Given the description of an element on the screen output the (x, y) to click on. 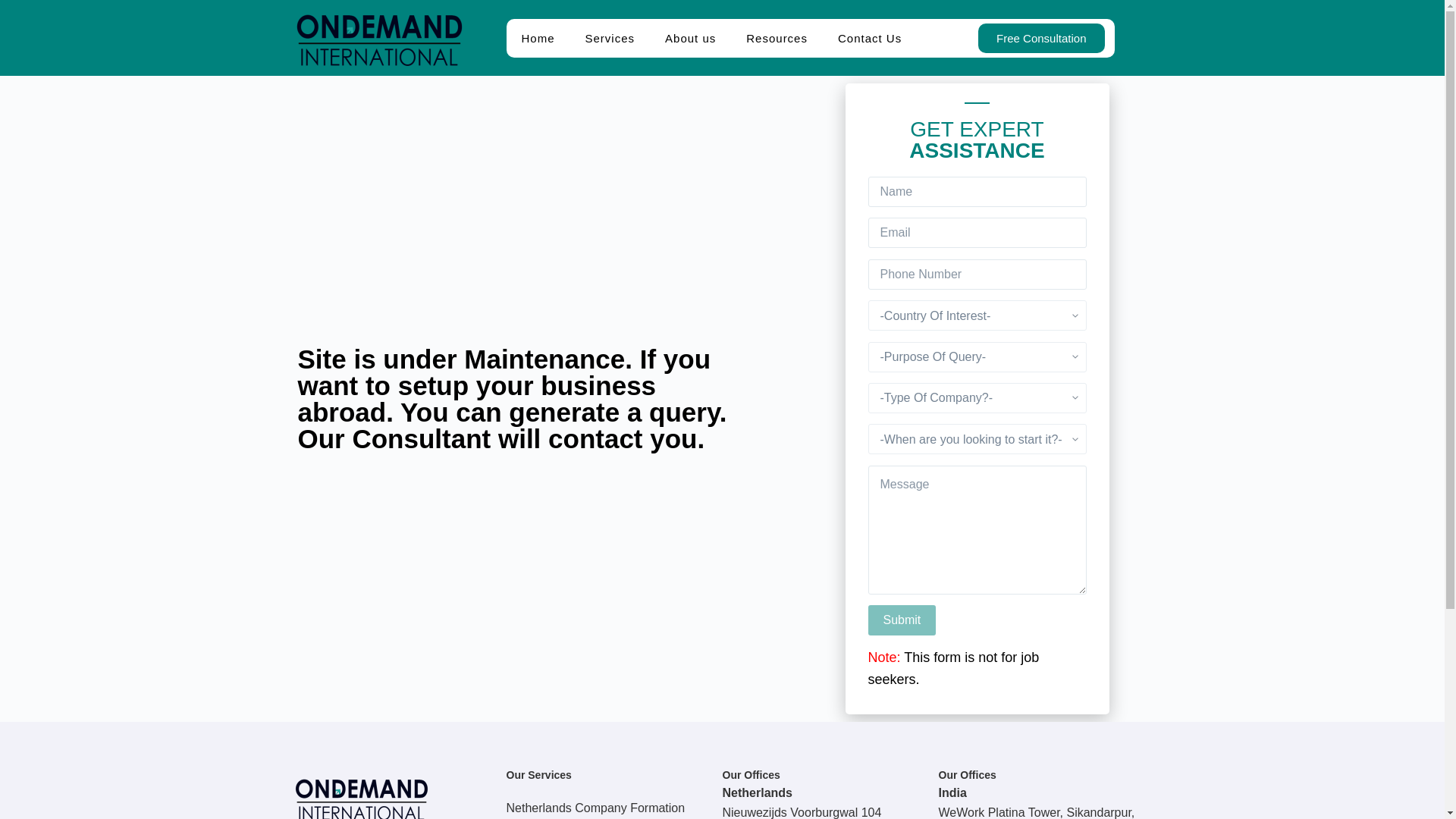
Logo-6-e1691128565500 (360, 793)
Home (538, 37)
Submit (901, 620)
Logo-6-e1691128565500 (378, 38)
